Given the description of an element on the screen output the (x, y) to click on. 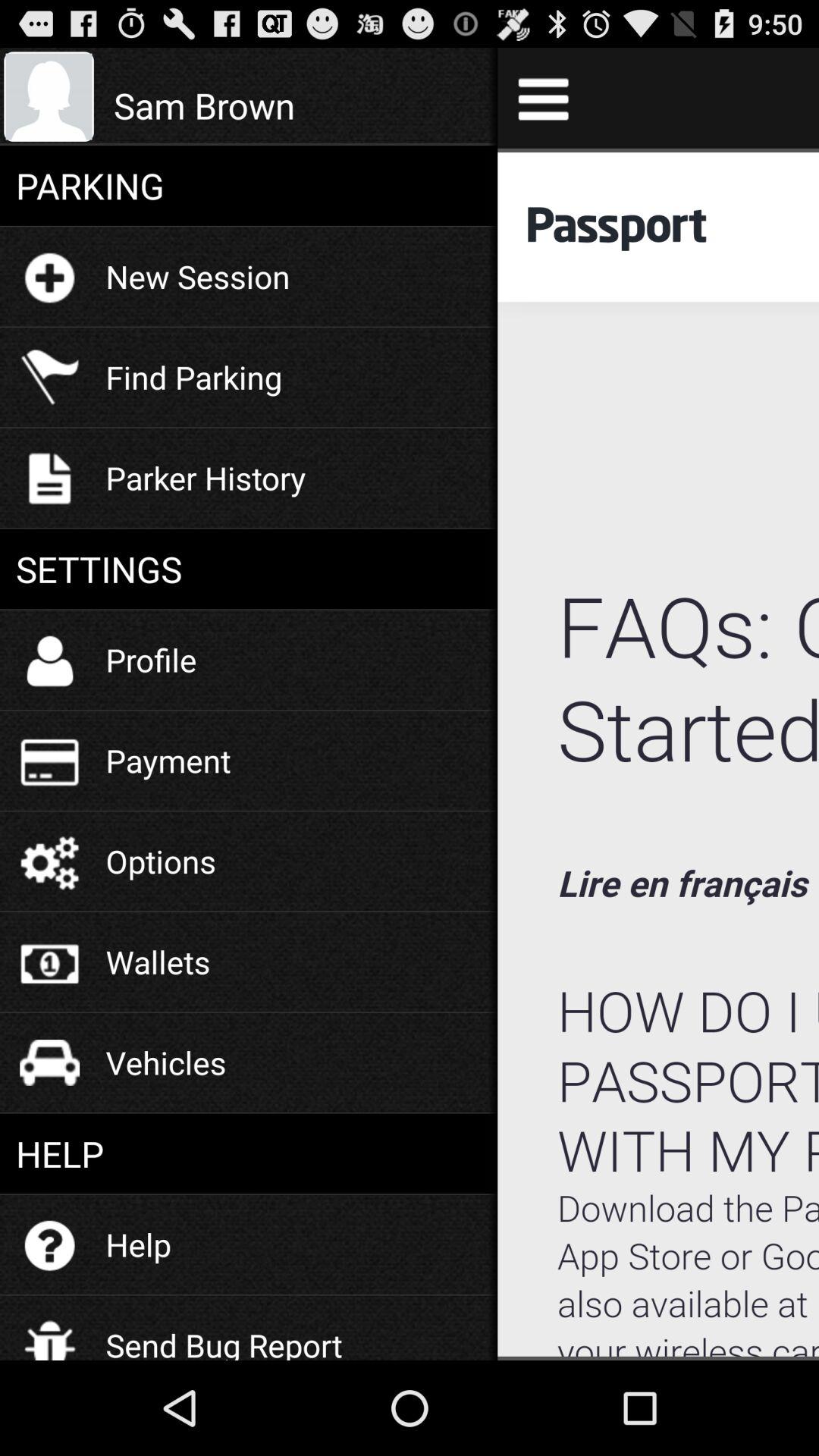
swipe until options item (160, 860)
